Given the description of an element on the screen output the (x, y) to click on. 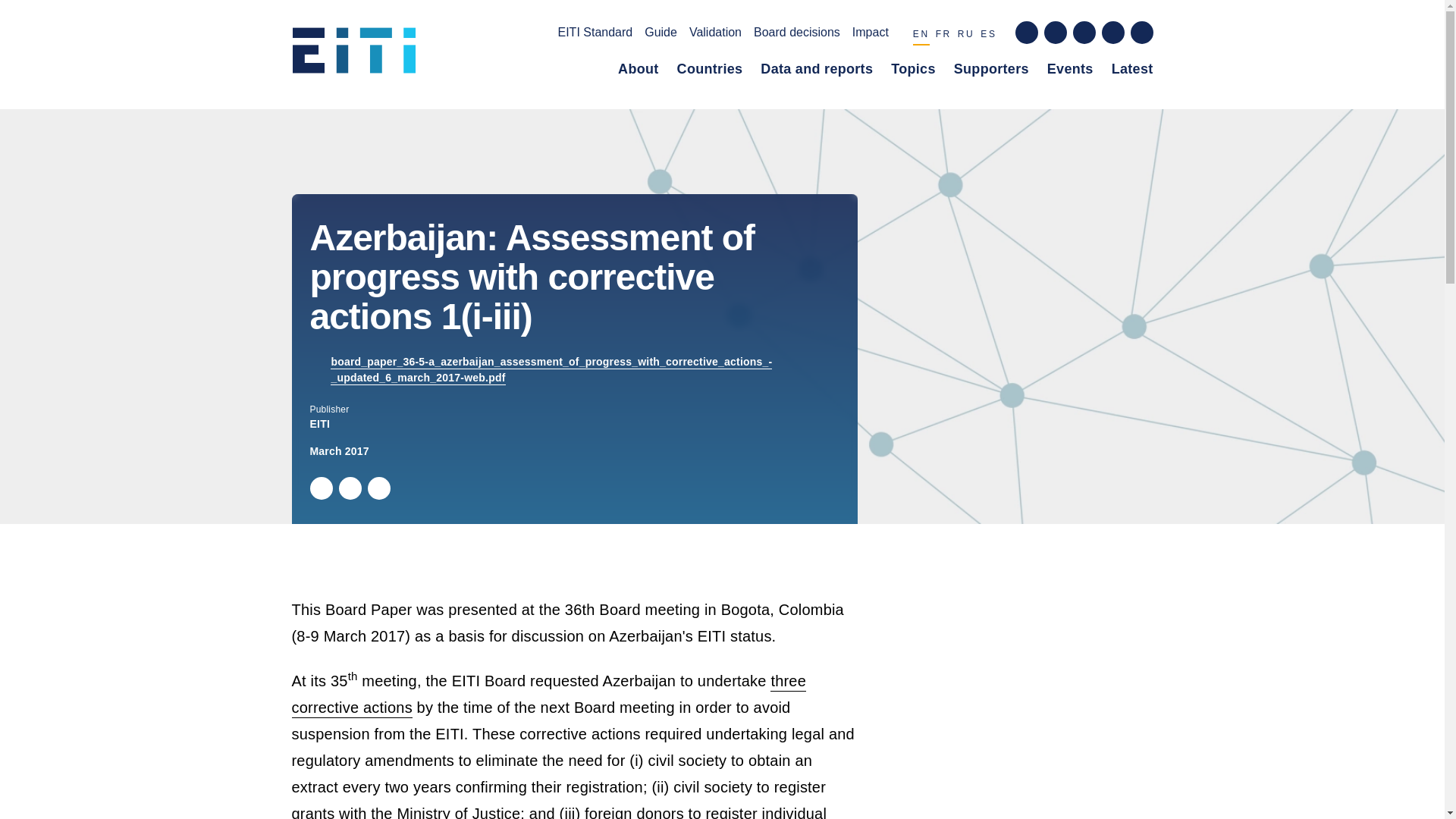
FR (944, 36)
Validation (714, 35)
EITI Standard (594, 35)
Follow us on Twitter (1054, 32)
Facebook (349, 487)
Follow us on Linkedin (1082, 32)
Board decisions (797, 35)
RU (966, 36)
Countries (709, 71)
Find us on YouTube (1112, 32)
